Given the description of an element on the screen output the (x, y) to click on. 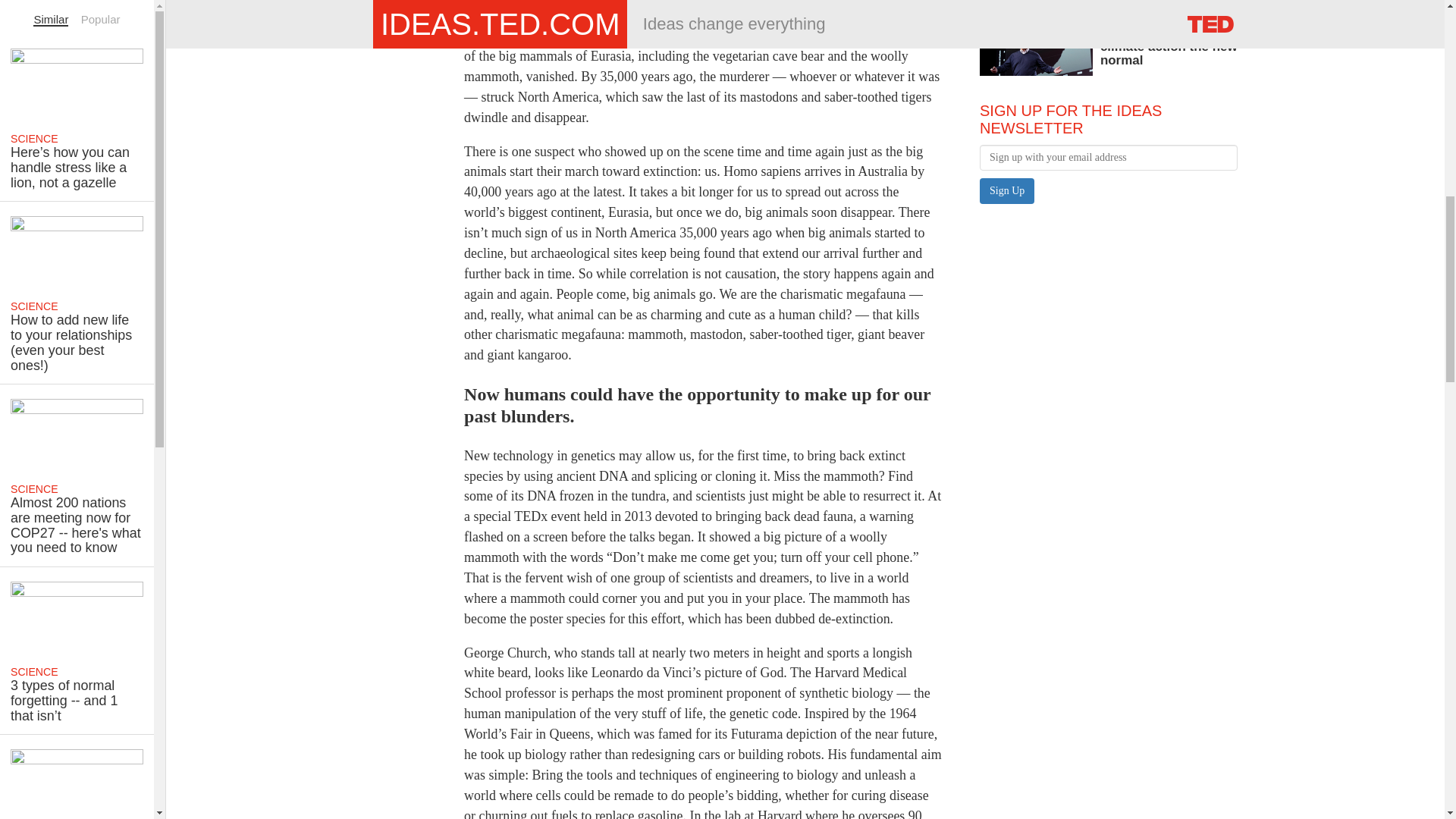
Sign Up (1006, 190)
Sign Up (1006, 190)
